Given the description of an element on the screen output the (x, y) to click on. 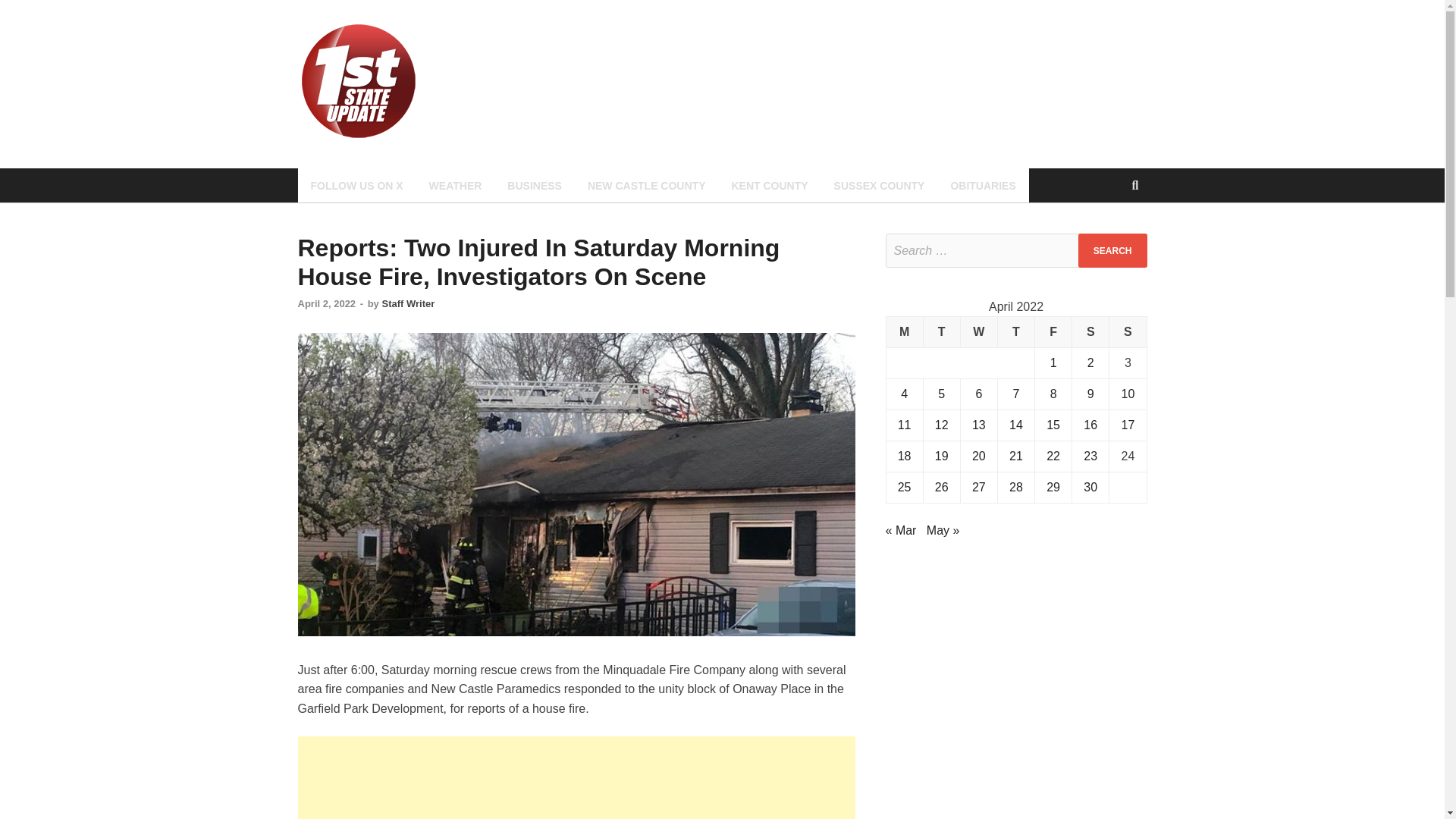
BUSINESS (535, 185)
April 2, 2022 (326, 303)
Friday (1053, 332)
10 (1127, 393)
Sunday (1128, 332)
Search (1112, 250)
Tuesday (941, 332)
SUSSEX COUNTY (879, 185)
Advertisement (575, 777)
First State Update (545, 51)
14 (1016, 424)
Staff Writer (407, 303)
WEATHER (455, 185)
OBITUARIES (982, 185)
FOLLOW US ON X (355, 185)
